Given the description of an element on the screen output the (x, y) to click on. 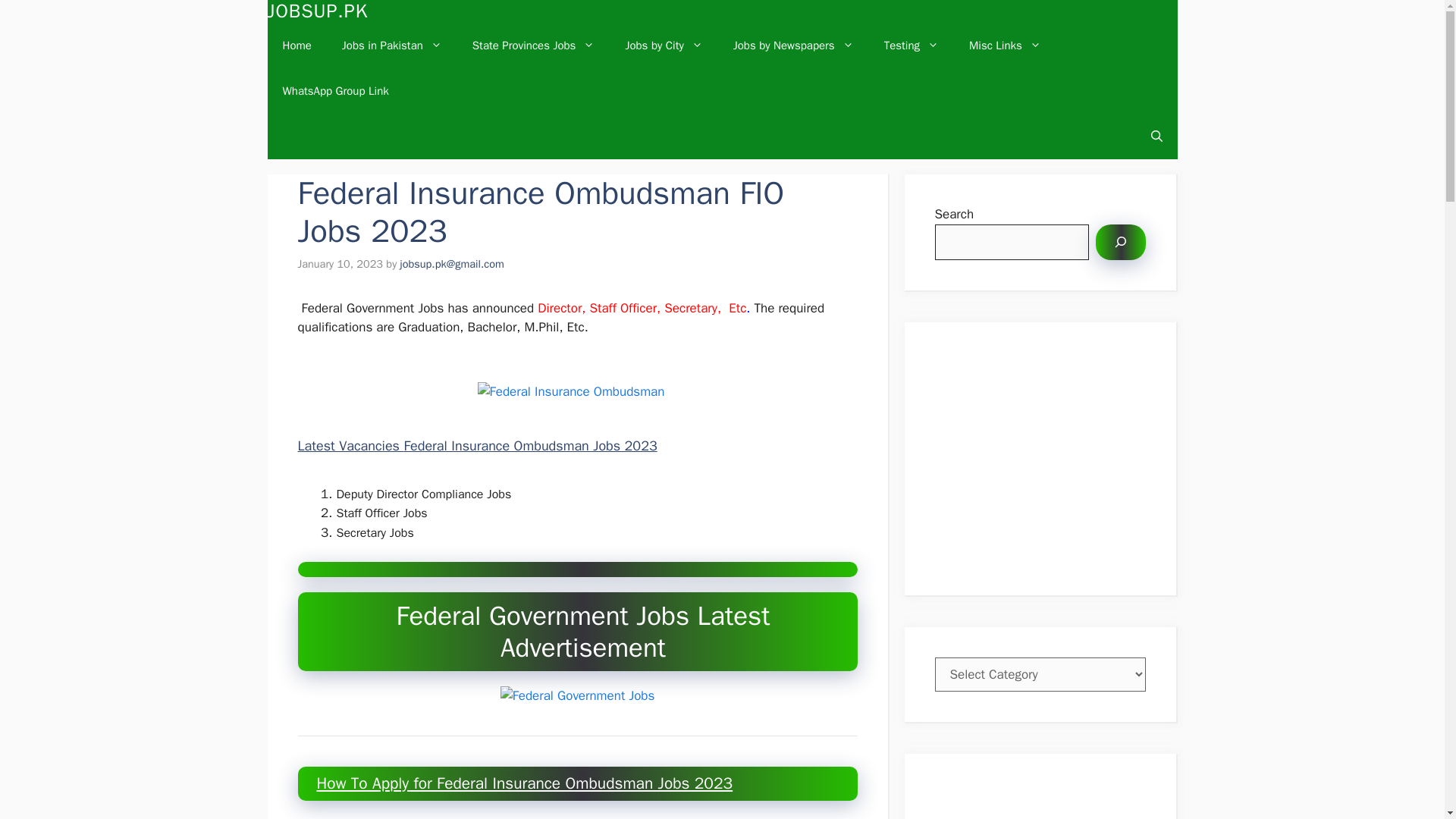
Jobs in Pakistan (391, 44)
Jobs by City (663, 44)
Jobs by Newspapers (793, 44)
Testing (911, 44)
JOBSUP.PK (317, 11)
Federal Government Jobs (577, 695)
State Provinces Jobs (533, 44)
Home (296, 44)
Misc Links (1005, 44)
Federal Insurance Ombudsman (571, 392)
